Given the description of an element on the screen output the (x, y) to click on. 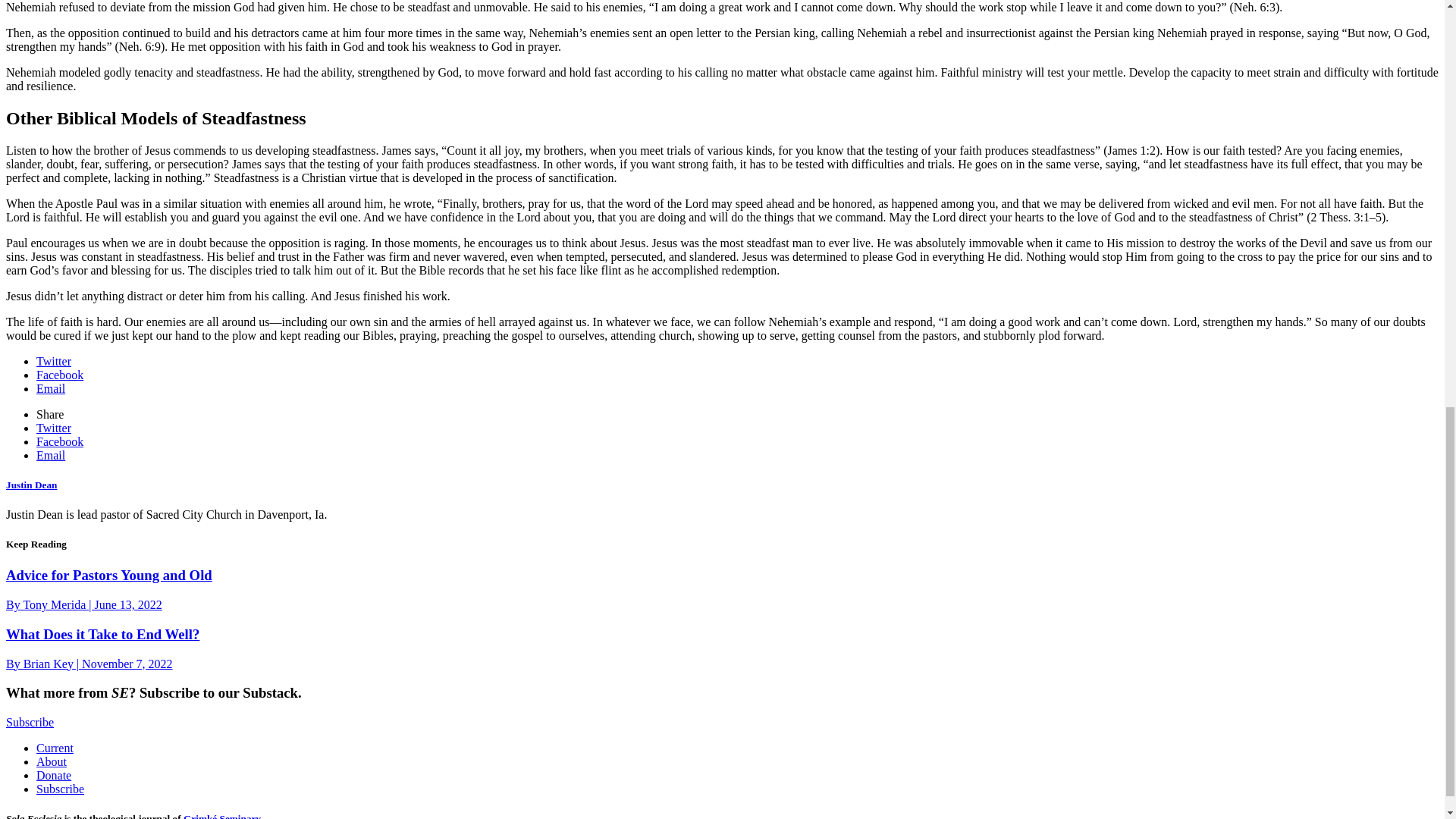
About (51, 761)
Email (50, 454)
Current (55, 748)
Subscribe (60, 788)
Twitter (53, 360)
Twitter (53, 427)
Facebook (59, 440)
Donate (53, 775)
Facebook (59, 374)
Email (50, 388)
